Given the description of an element on the screen output the (x, y) to click on. 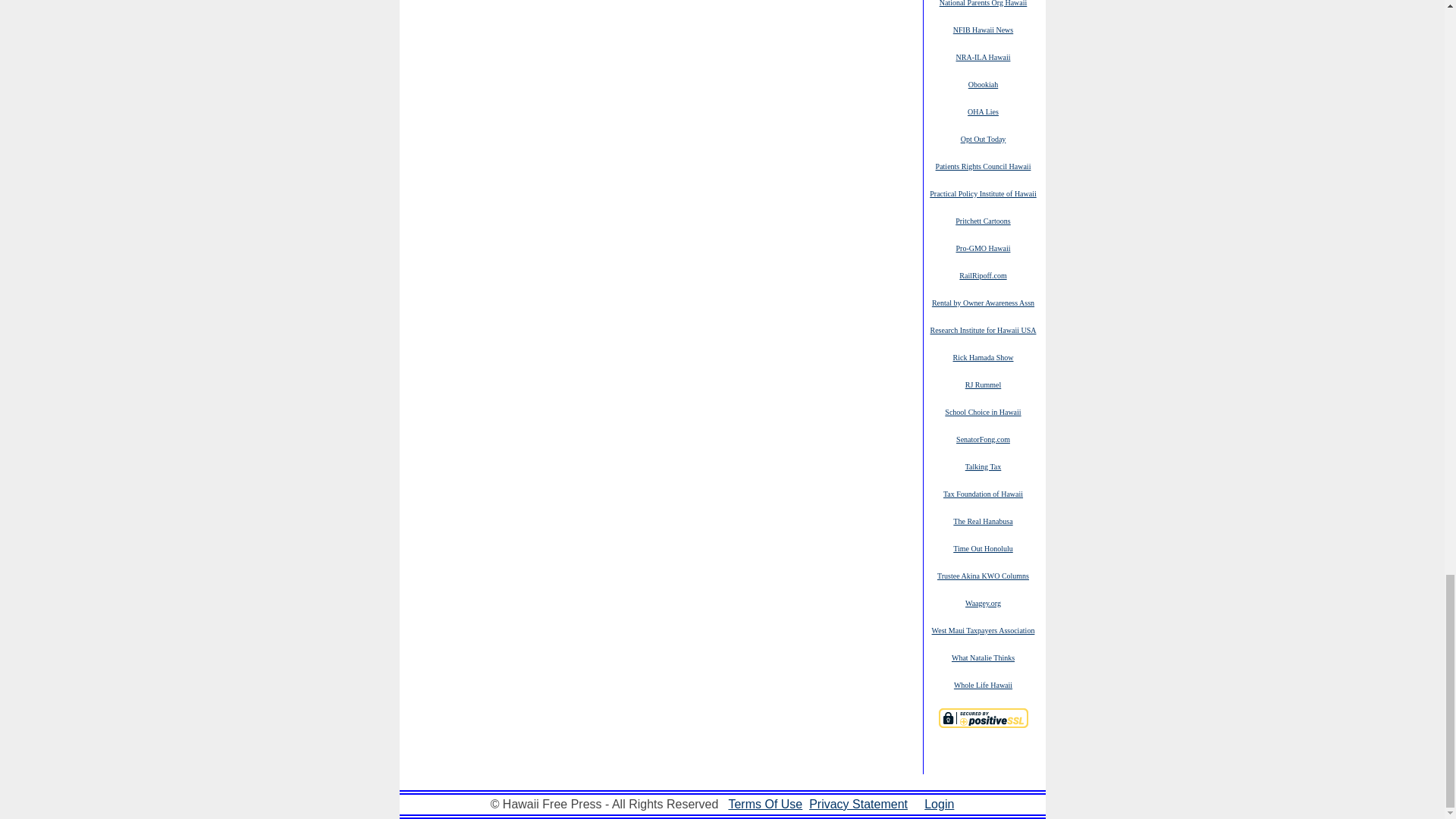
Login (938, 803)
